Given the description of an element on the screen output the (x, y) to click on. 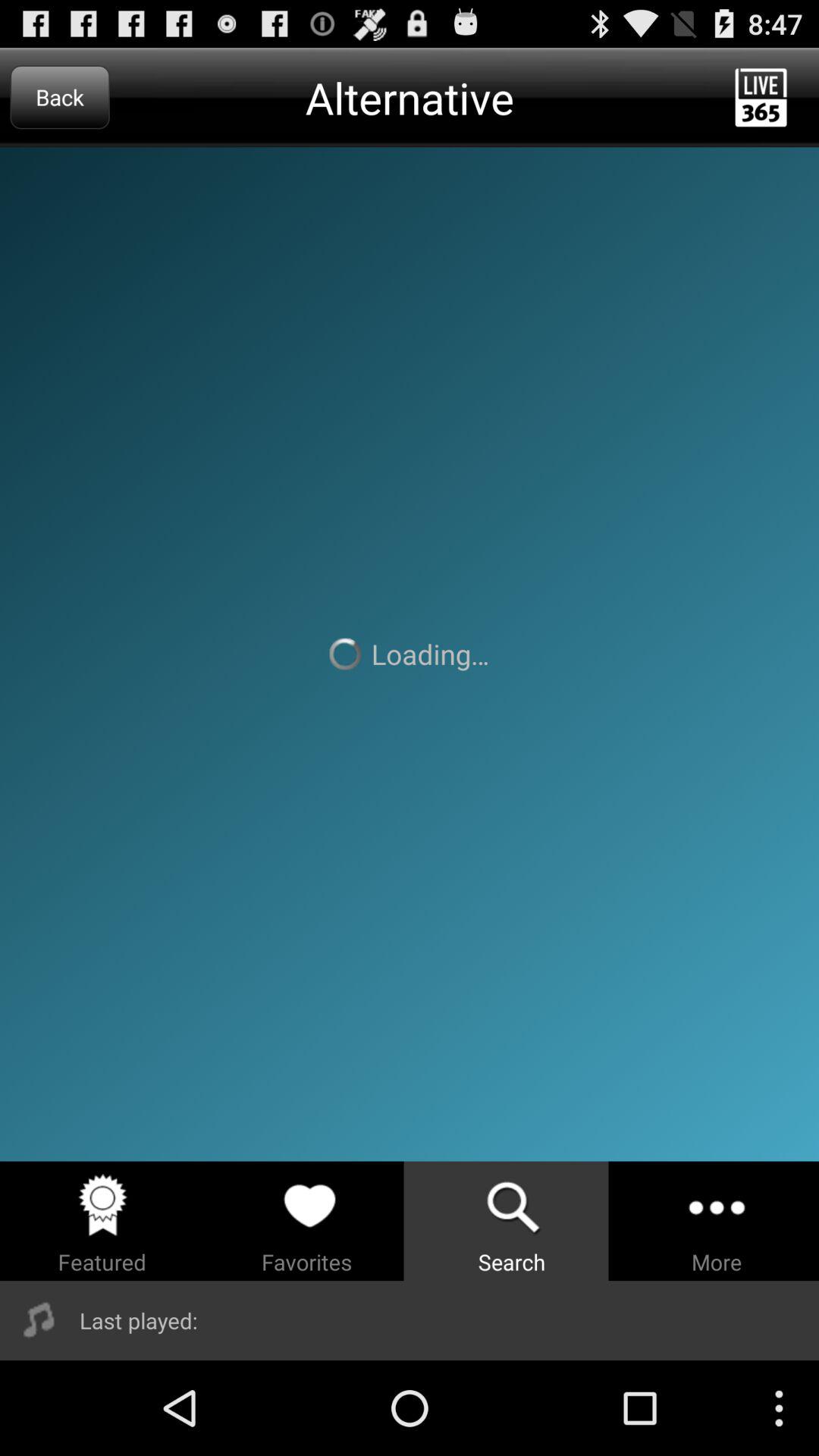
click the icon next to the alternative icon (59, 97)
